Given the description of an element on the screen output the (x, y) to click on. 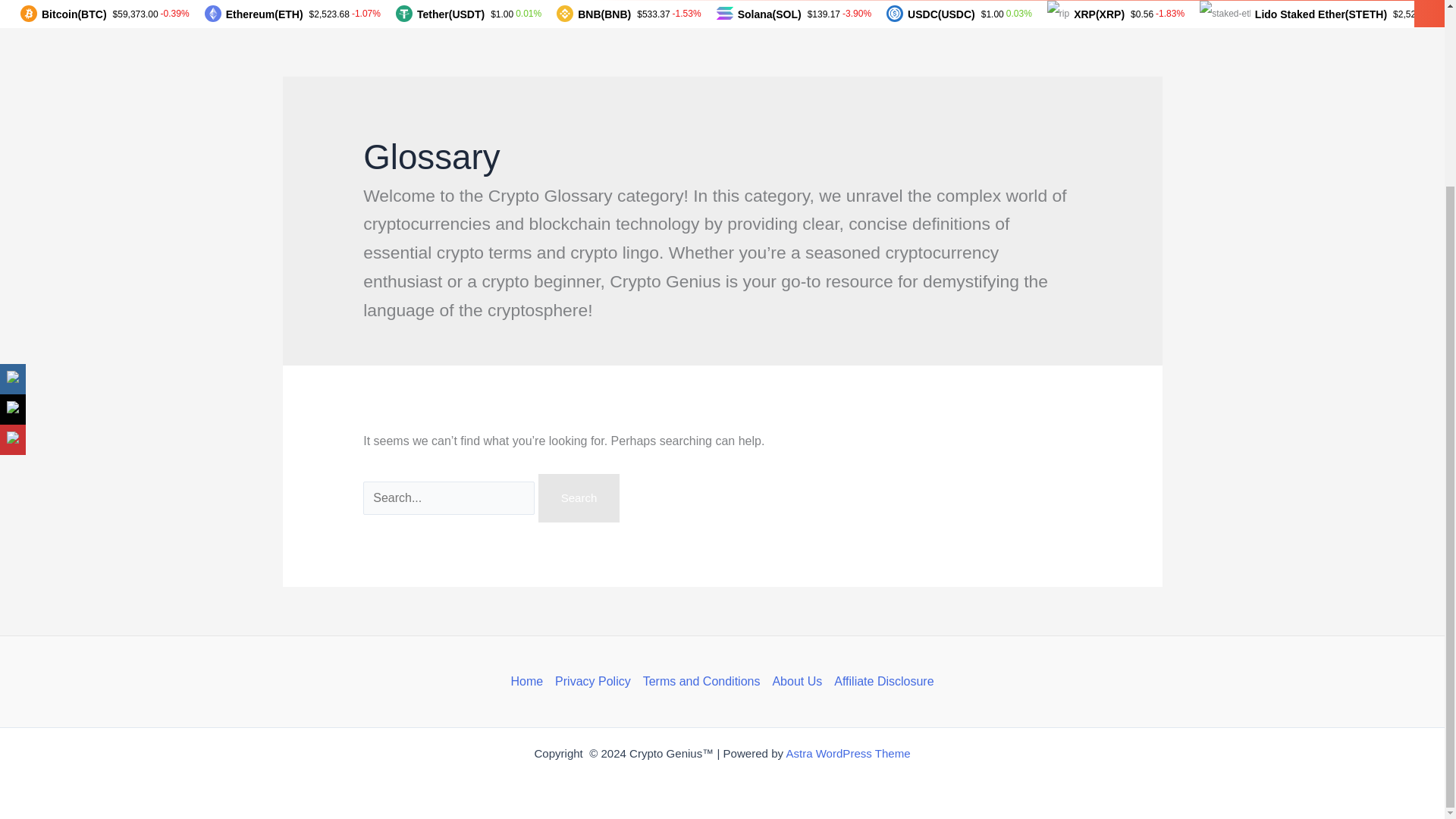
Search (579, 498)
Privacy Policy (592, 681)
Home (529, 681)
Astra WordPress Theme (848, 753)
Terms and Conditions (702, 681)
Search (579, 498)
Search (579, 498)
About Us (796, 681)
Affiliate Disclosure (880, 681)
